Given the description of an element on the screen output the (x, y) to click on. 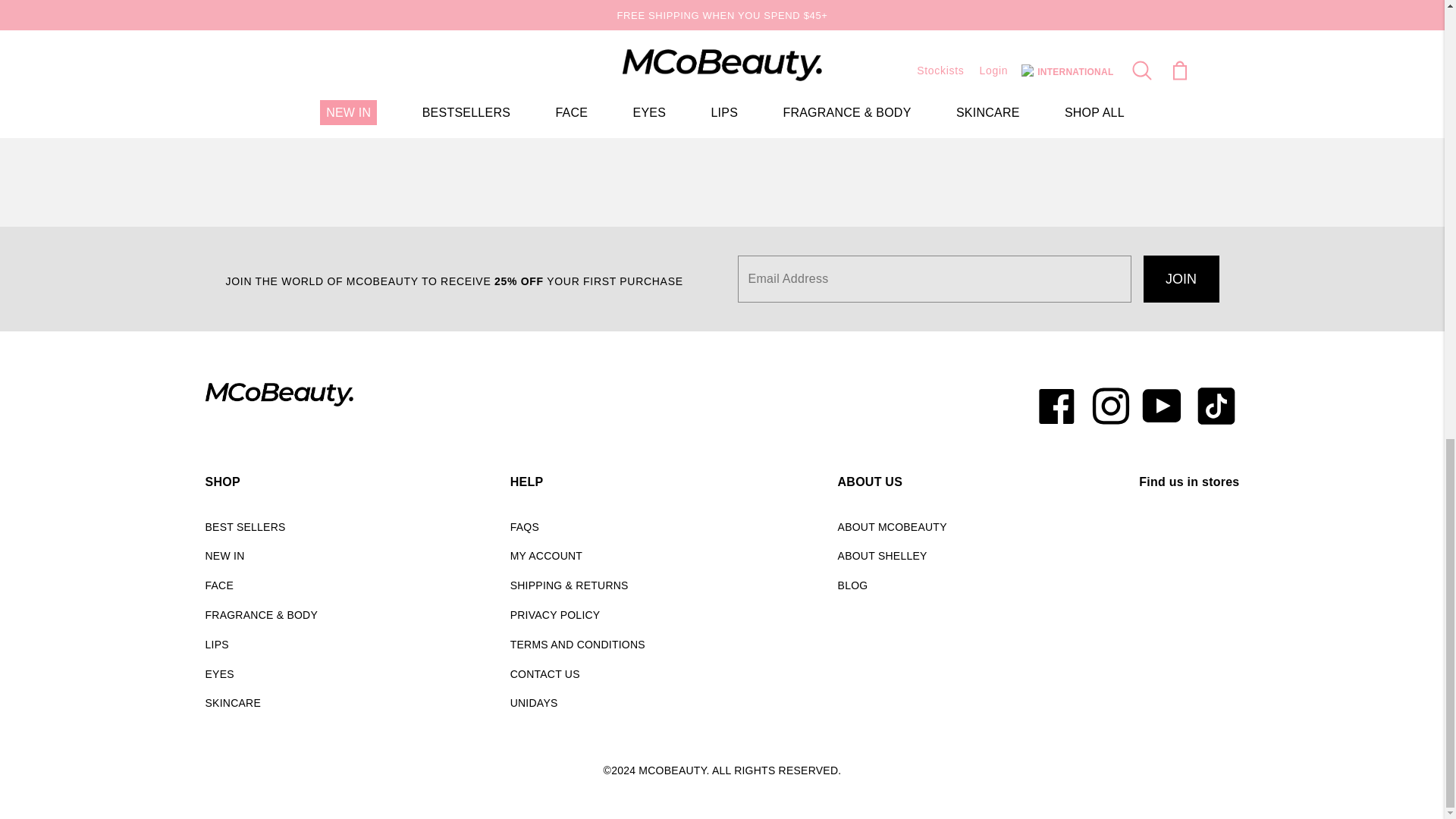
MCoBeauty US on Facebook (1058, 405)
MCoBeauty US on TikTok (1213, 405)
MCoBeauty US on Instagram (1109, 405)
MCoBeauty US on YouTube (1161, 405)
